Given the description of an element on the screen output the (x, y) to click on. 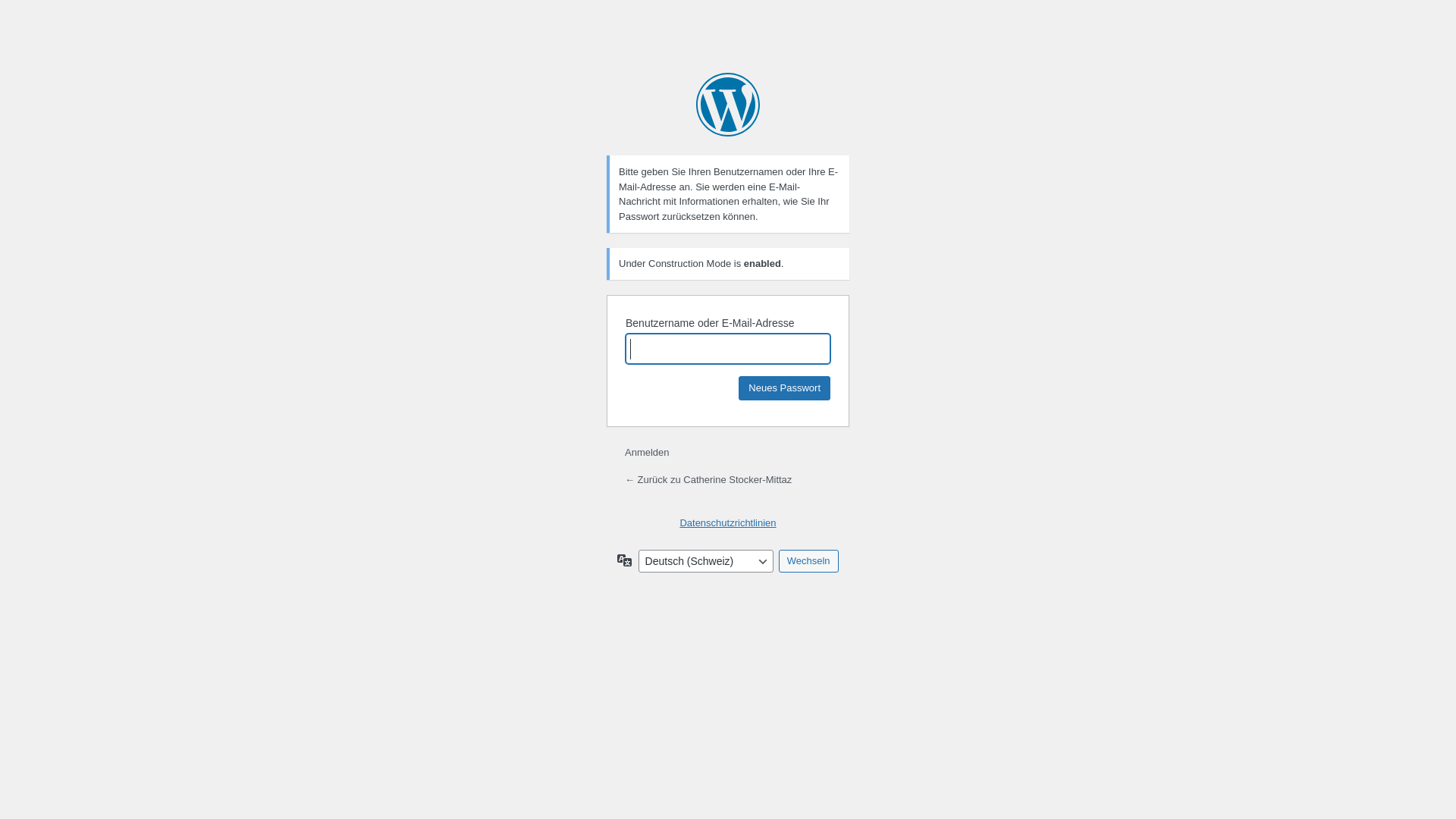
Datenschutzrichtlinien Element type: text (727, 522)
Powered by WordPress Element type: text (727, 104)
Anmelden Element type: text (646, 452)
Wechseln Element type: text (808, 560)
Neues Passwort Element type: text (784, 388)
